Given the description of an element on the screen output the (x, y) to click on. 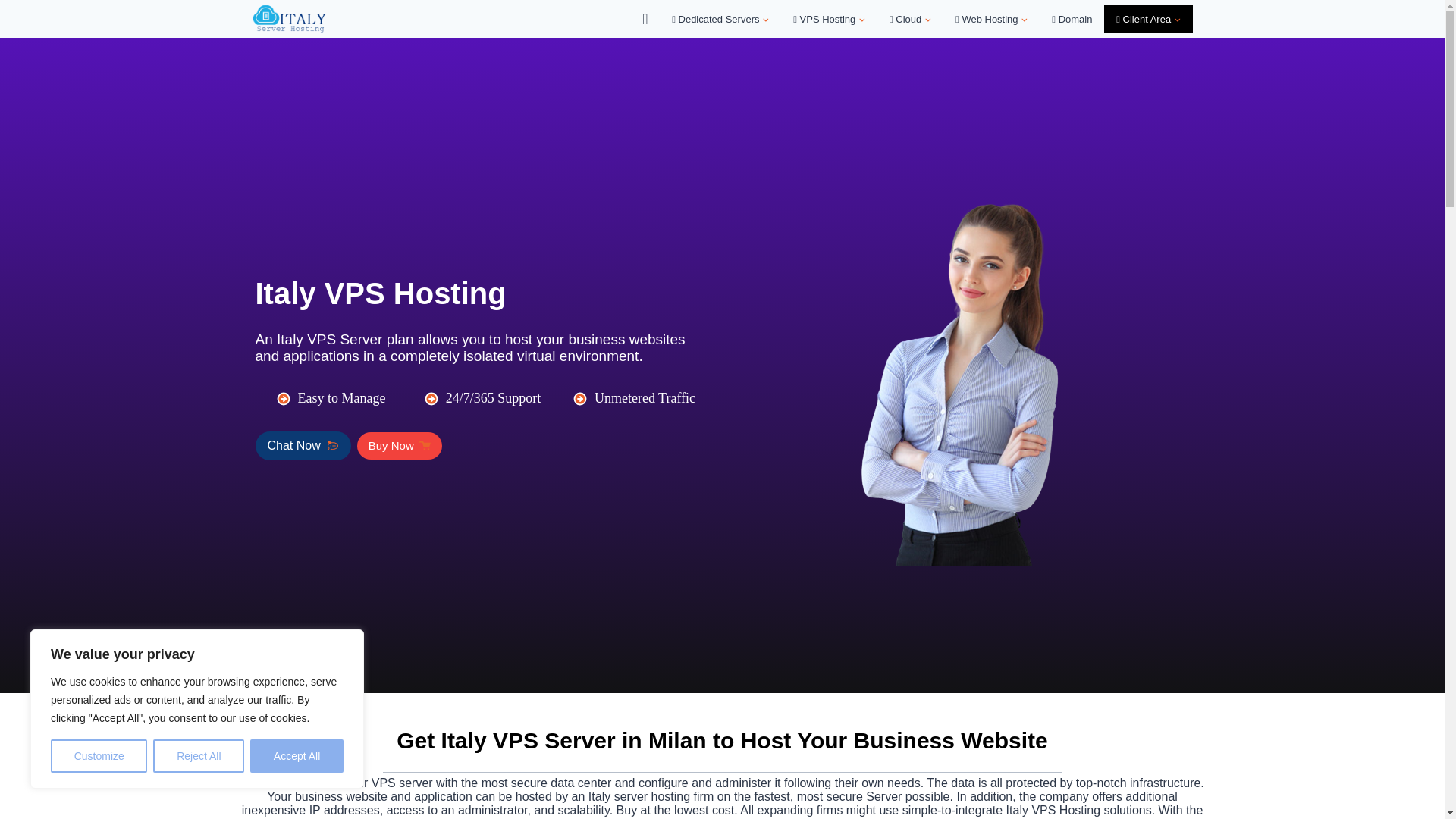
Dedicated Servers (719, 18)
Accept All (296, 756)
Reject All (198, 756)
Cloud (910, 18)
Web Hosting (991, 18)
Customize (98, 756)
VPS Hosting (828, 18)
